Given the description of an element on the screen output the (x, y) to click on. 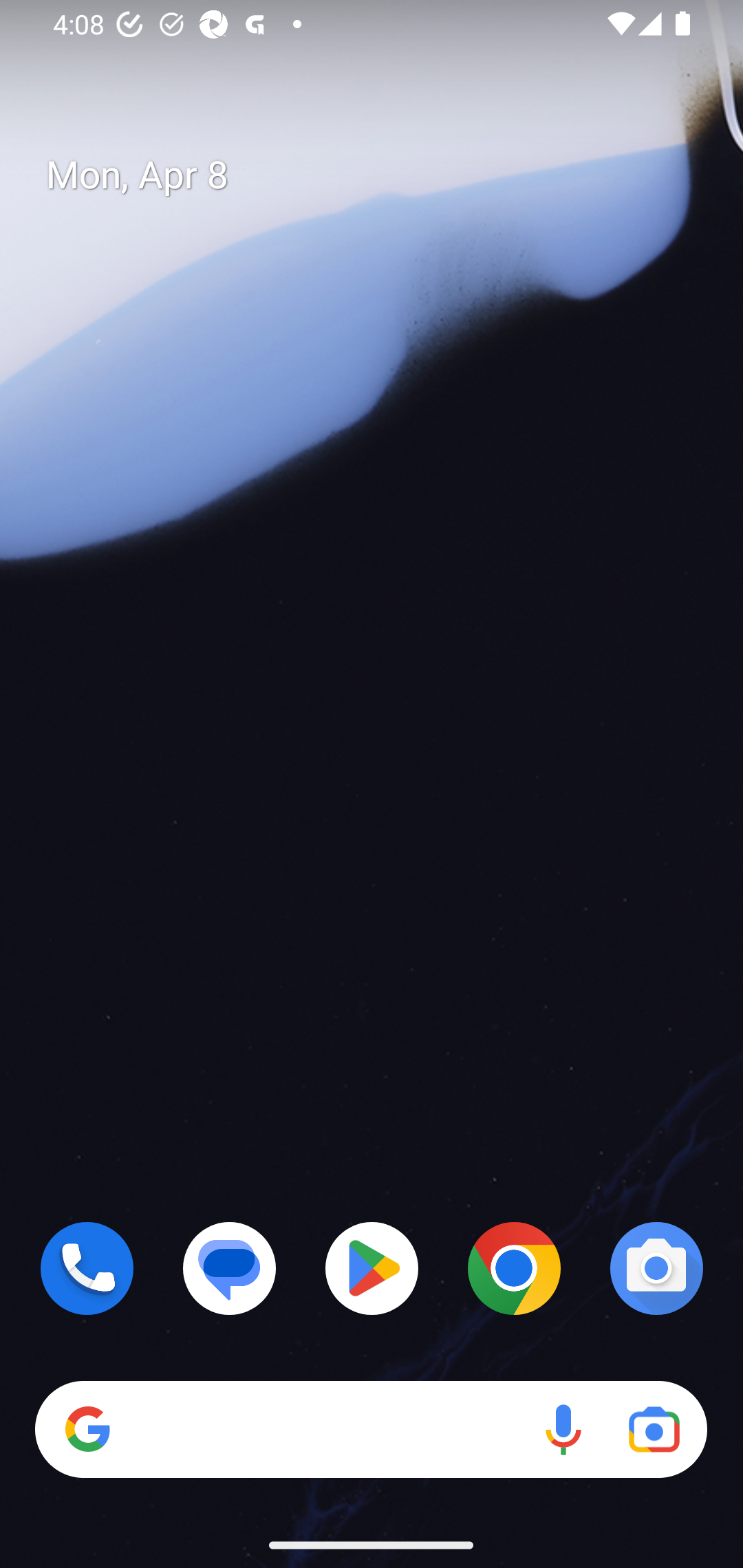
Mon, Apr 8 (386, 175)
Phone (86, 1268)
Messages (229, 1268)
Play Store (371, 1268)
Chrome (513, 1268)
Camera (656, 1268)
Search Voice search Google Lens (370, 1429)
Voice search (562, 1429)
Google Lens (653, 1429)
